Given the description of an element on the screen output the (x, y) to click on. 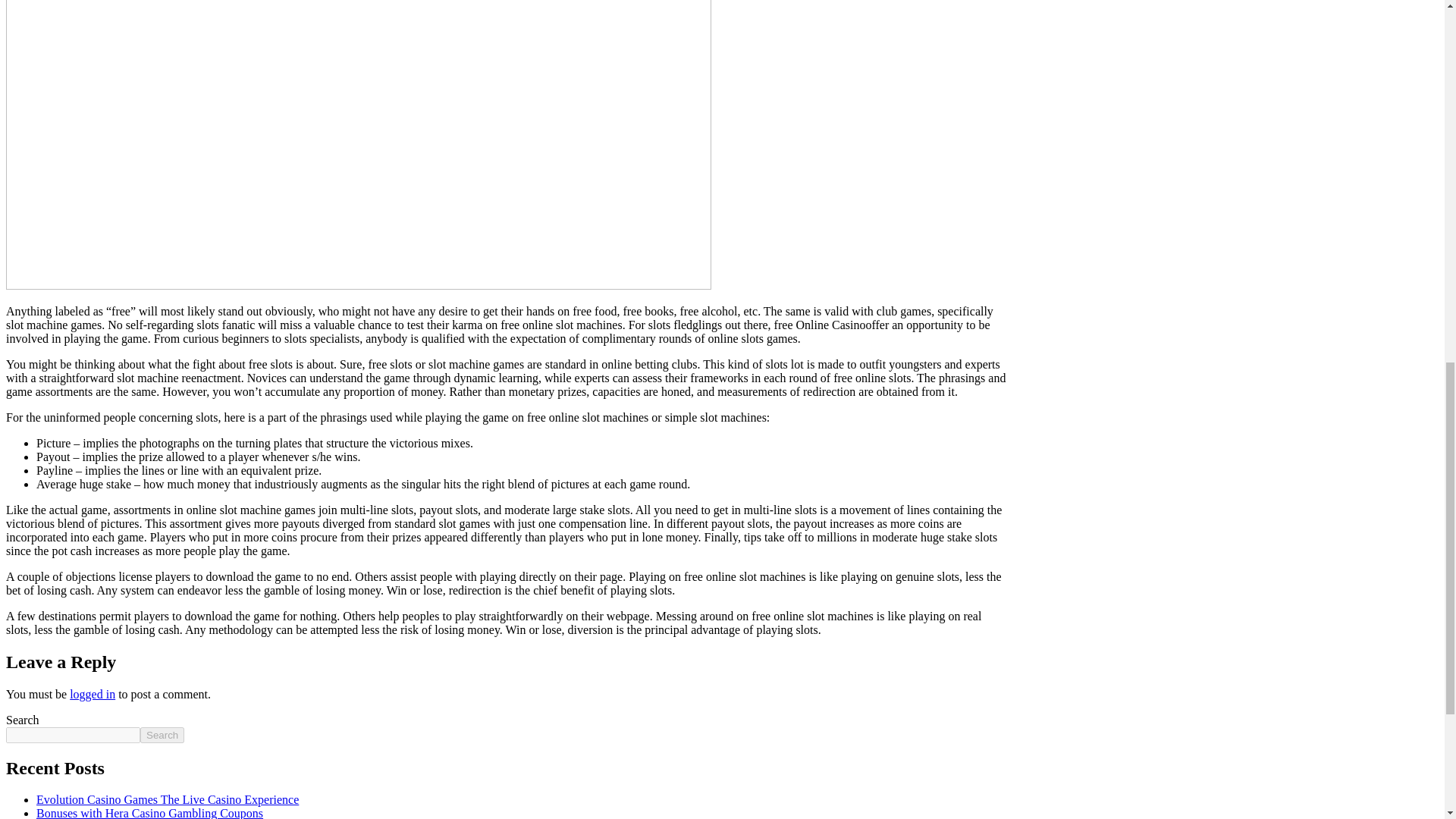
Evolution Casino Games The Live Casino Experience (167, 799)
Bonuses with Hera Casino Gambling Coupons (149, 812)
logged in (92, 694)
Search (161, 734)
